Given the description of an element on the screen output the (x, y) to click on. 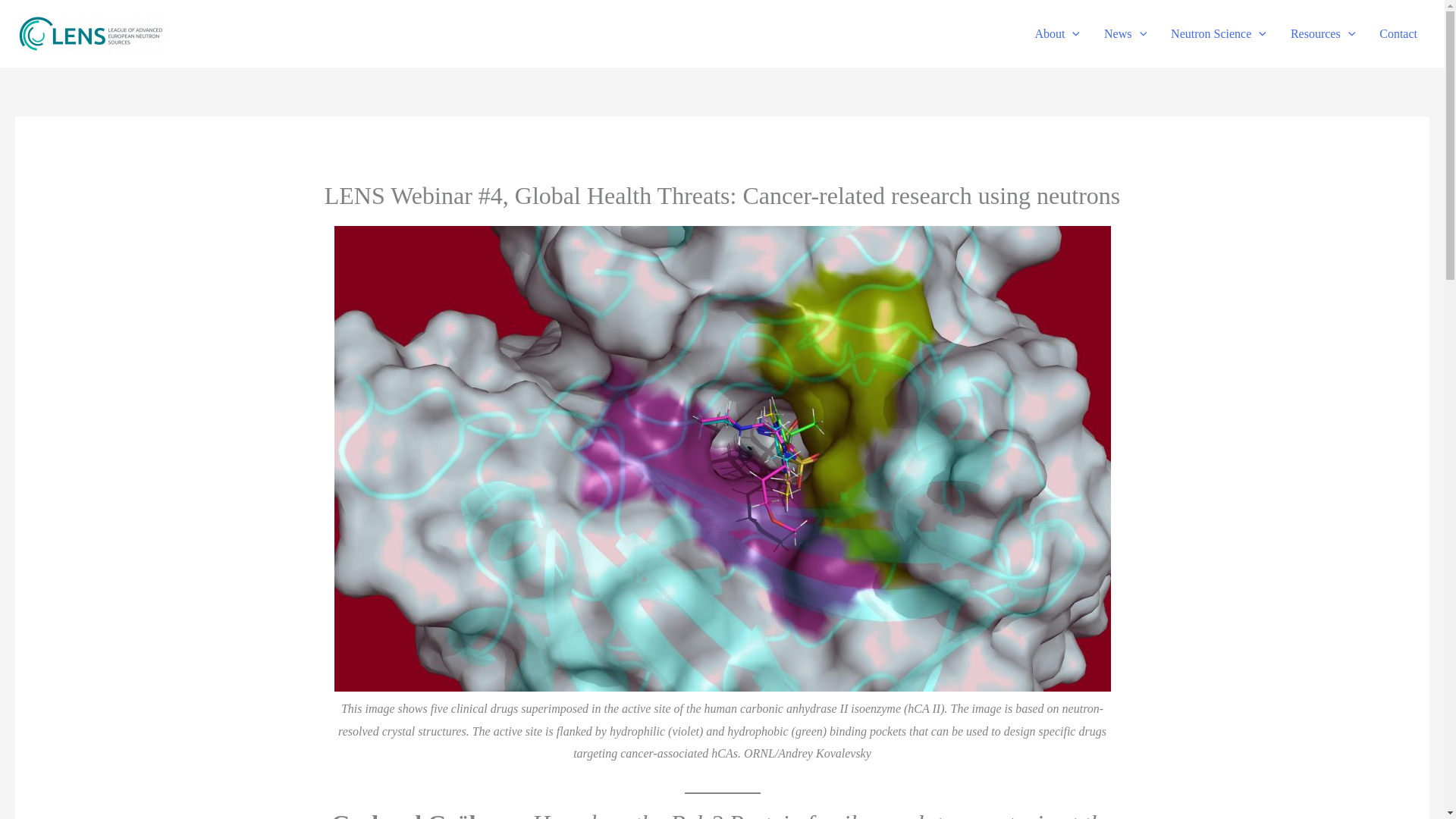
News (1125, 33)
About (1057, 33)
Resources (1322, 33)
Contact (1398, 33)
Neutron Science (1218, 33)
